Given the description of an element on the screen output the (x, y) to click on. 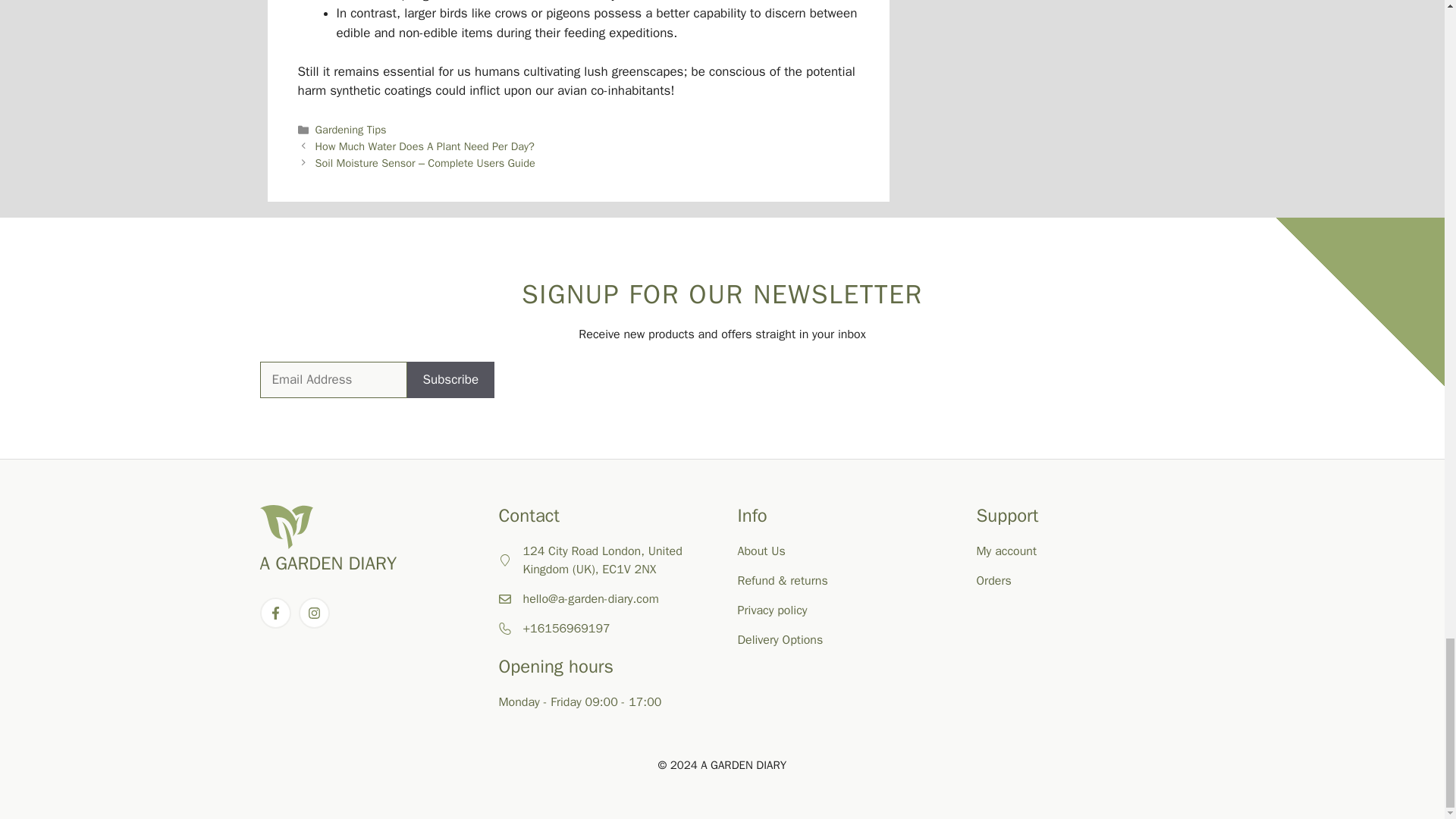
Orders (993, 580)
My account (1006, 550)
Subscribe (450, 379)
Privacy policy (771, 610)
Subscribe (450, 379)
Botanist logo (286, 526)
About Us (760, 550)
Gardening Tips (351, 129)
How Much Water Does A Plant Need Per Day? (424, 146)
Delivery Options (779, 639)
